Given the description of an element on the screen output the (x, y) to click on. 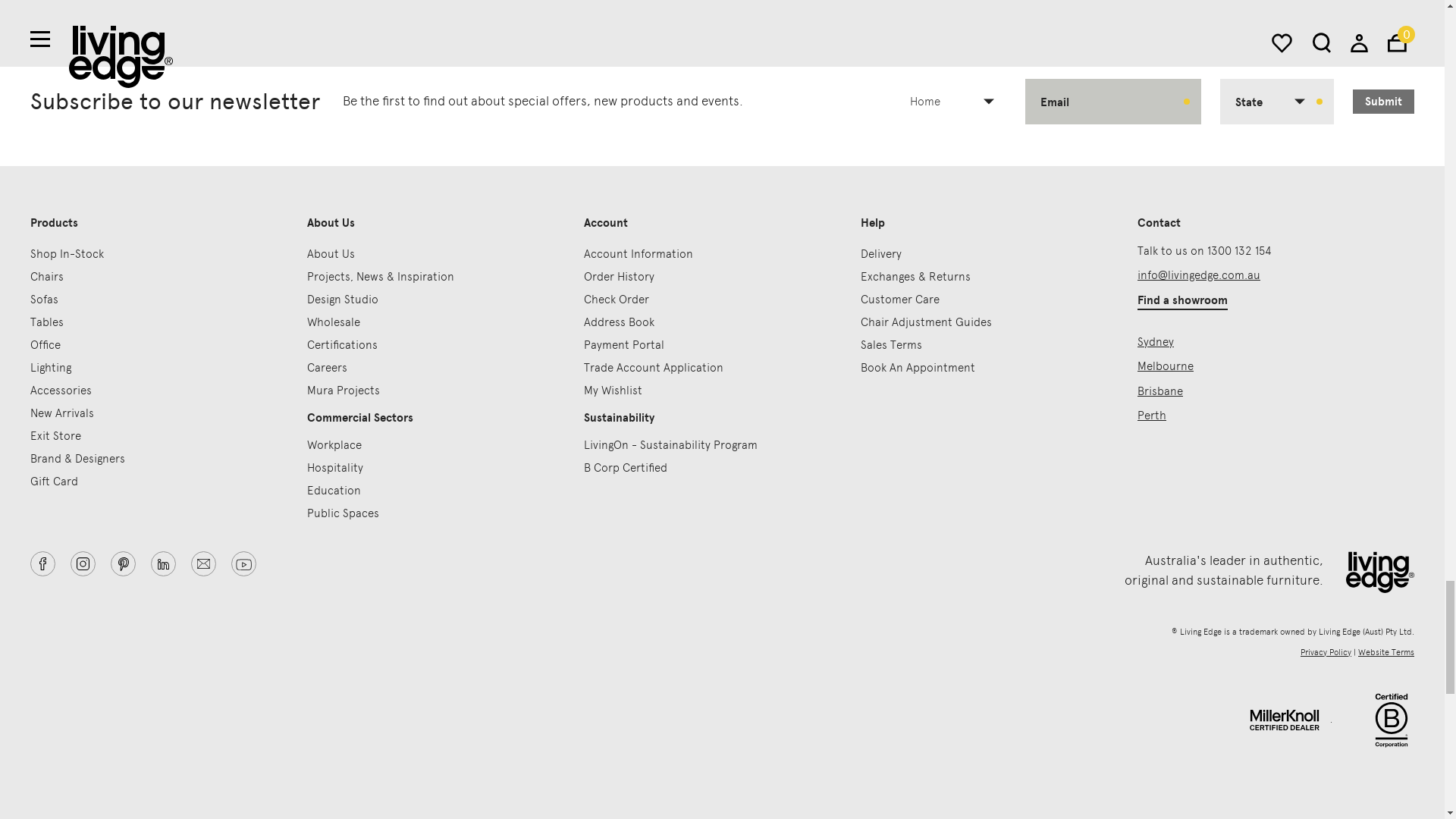
Miniatures Ball Chair (180, 2)
Miniatures Art. 41 Paimio (541, 2)
Miniatures Panton Chairs, Set of 5 (902, 2)
King Mirror (1263, 2)
